Given the description of an element on the screen output the (x, y) to click on. 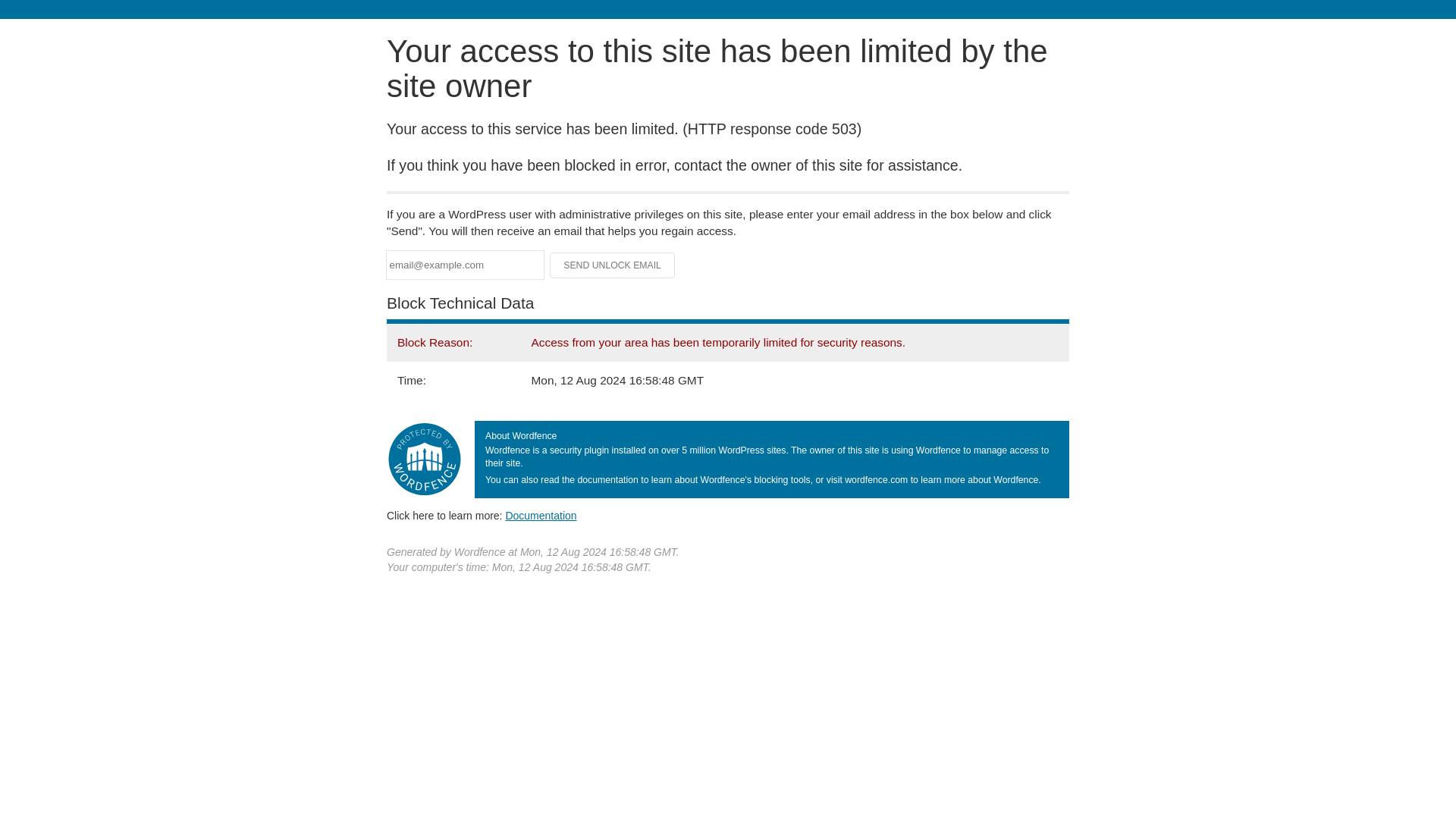
Send Unlock Email (612, 265)
Documentation (540, 515)
Send Unlock Email (612, 265)
